Given the description of an element on the screen output the (x, y) to click on. 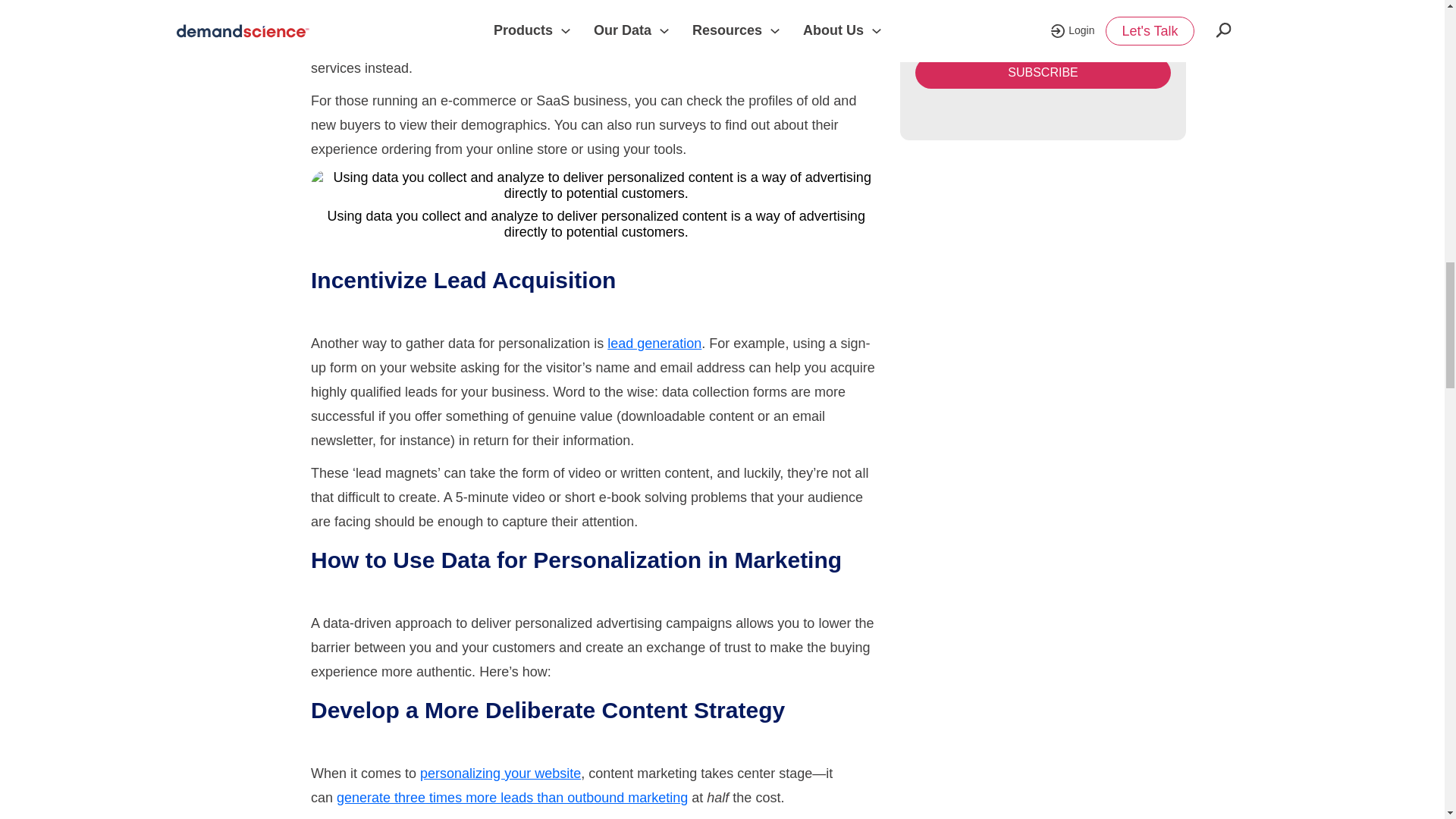
Subscribe (1042, 72)
